Given the description of an element on the screen output the (x, y) to click on. 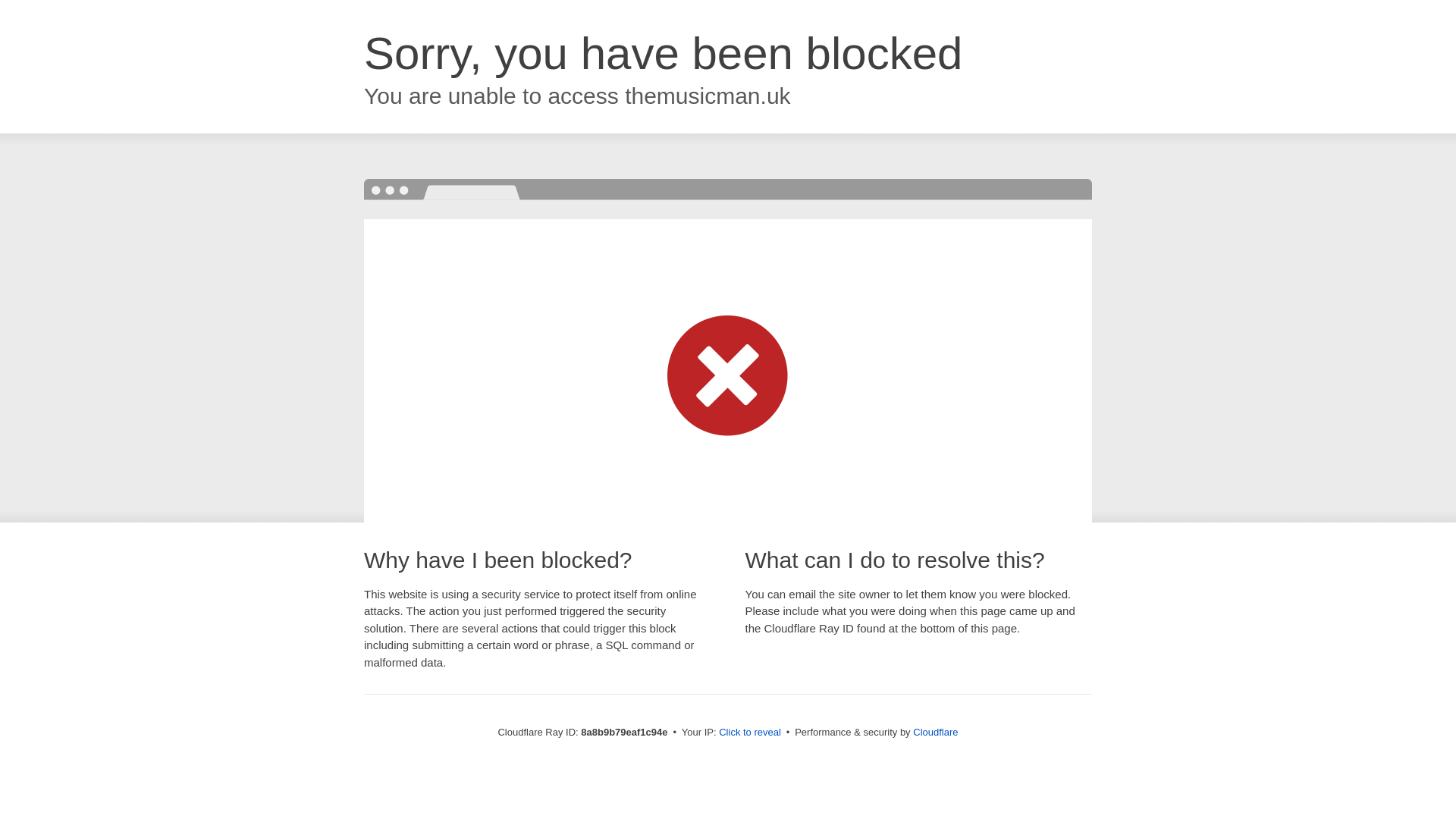
Cloudflare (935, 731)
Click to reveal (749, 732)
